Given the description of an element on the screen output the (x, y) to click on. 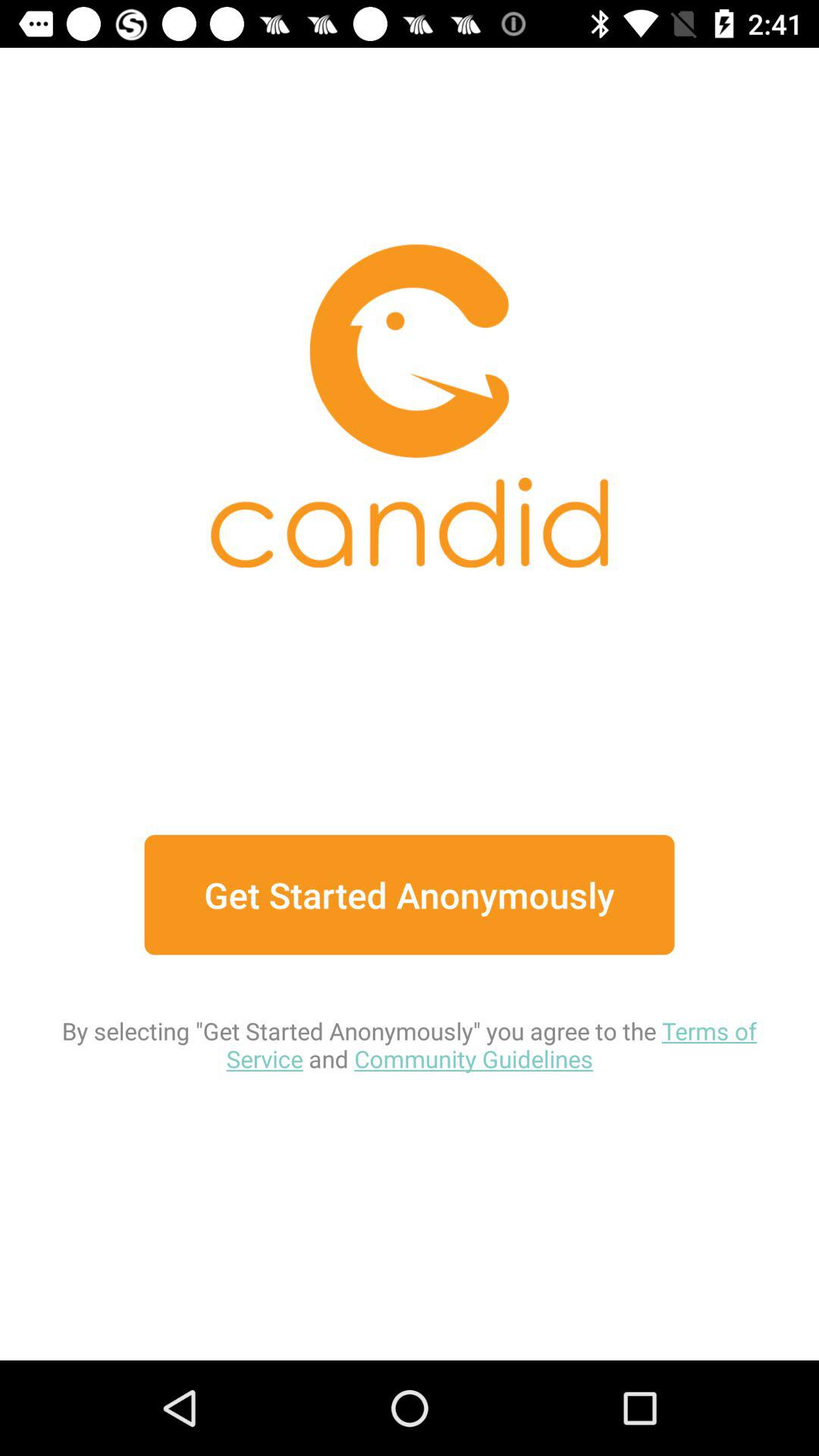
turn off item below get started anonymously item (409, 1014)
